Given the description of an element on the screen output the (x, y) to click on. 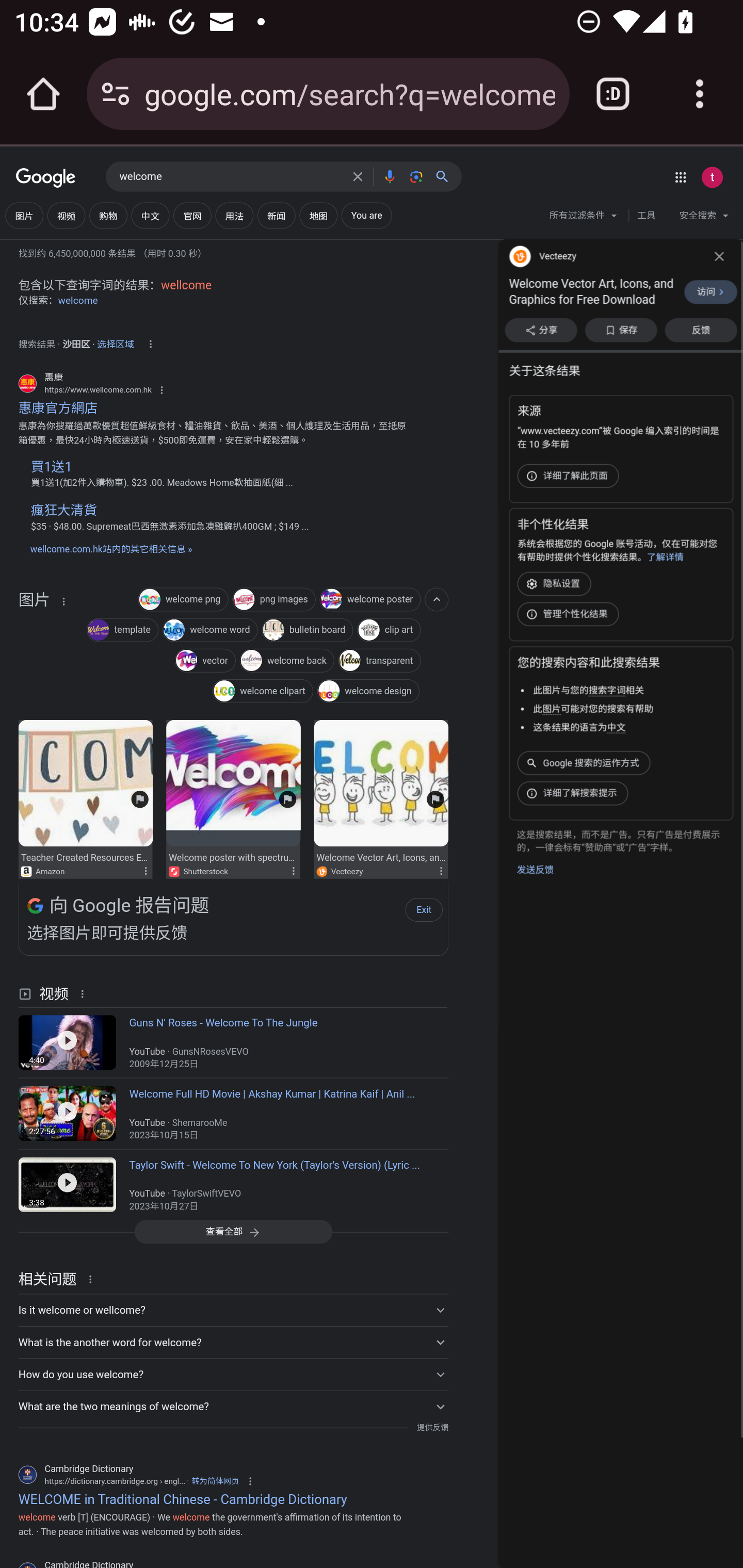
Open the home page (43, 93)
Connection is secure (115, 93)
Switch or close tabs (612, 93)
Customize and control Google Chrome (699, 93)
清除 (357, 176)
按语音搜索 (389, 176)
按图搜索 (415, 176)
搜索 (446, 176)
Google 应用 (680, 176)
Google 账号： test appium (testappium002@gmail.com) (712, 176)
Google (45, 178)
welcome (229, 177)
图片 (24, 215)
视频 (65, 215)
购物 (107, 215)
添加“中文” 中文 (149, 215)
添加“官网” 官网 (191, 215)
添加“用法” 用法 (234, 215)
新闻 (276, 215)
地图 (318, 215)
添加“You are” You are (366, 215)
所有过滤条件 (583, 217)
工具 (646, 215)
安全搜索 (703, 217)
wellcome (185, 285)
welcome (77, 299)
选择区域 (115, 341)
位置信息使用方式 (149, 343)
買1送1 (50, 466)
瘋狂大清貨 (62, 510)
wellcome.com.hk站内的其它相关信息 » (110, 549)
图片 (33, 649)
welcome png (182, 600)
png images (273, 600)
welcome poster (369, 600)
按功能过滤 (436, 599)
关于这条结果的详细信息 (62, 601)
template (122, 631)
welcome word (209, 631)
bulletin board (306, 631)
clip art (388, 631)
vector (204, 661)
welcome back (286, 661)
transparent (378, 661)
welcome clipart (262, 692)
welcome design (367, 692)
关于这条结果的详细信息 (145, 869)
关于这条结果的详细信息 (292, 869)
关于这条结果的详细信息 (440, 869)
Exit (419, 907)
关于这条结果的详细信息 (85, 993)
查看全部 (233, 1231)
关于这条结果的详细信息 (93, 1278)
Is it welcome or wellcome? (232, 1309)
What is the another word for welcome? (232, 1340)
How do you use welcome? (232, 1373)
What are the two meanings of welcome? (232, 1406)
提供反馈 (432, 1427)
转为简体网页 (214, 1480)
